Given the description of an element on the screen output the (x, y) to click on. 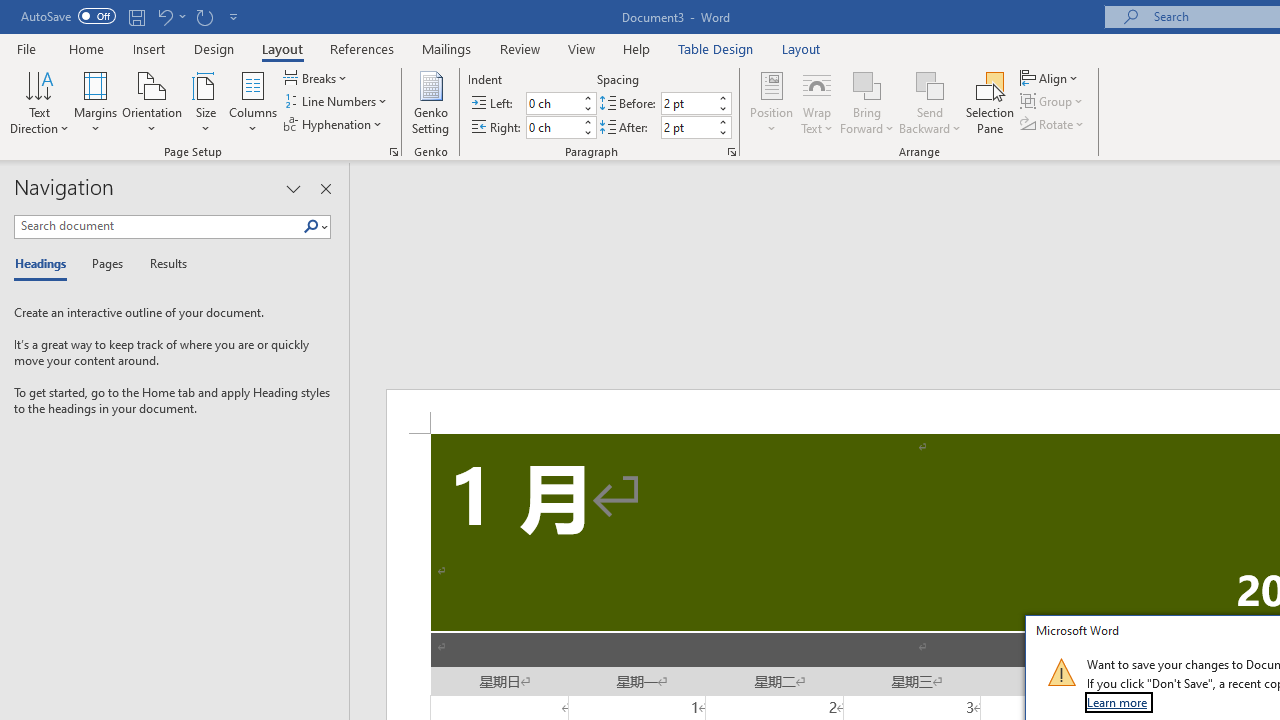
Bring Forward (867, 102)
Send Backward (930, 84)
Line Numbers (337, 101)
Group (1053, 101)
Text Direction (39, 102)
More (722, 121)
Hyphenation (334, 124)
Orientation (152, 102)
Position (771, 102)
Send Backward (930, 102)
Bring Forward (867, 84)
Genko Setting... (430, 102)
Table Design (715, 48)
